Given the description of an element on the screen output the (x, y) to click on. 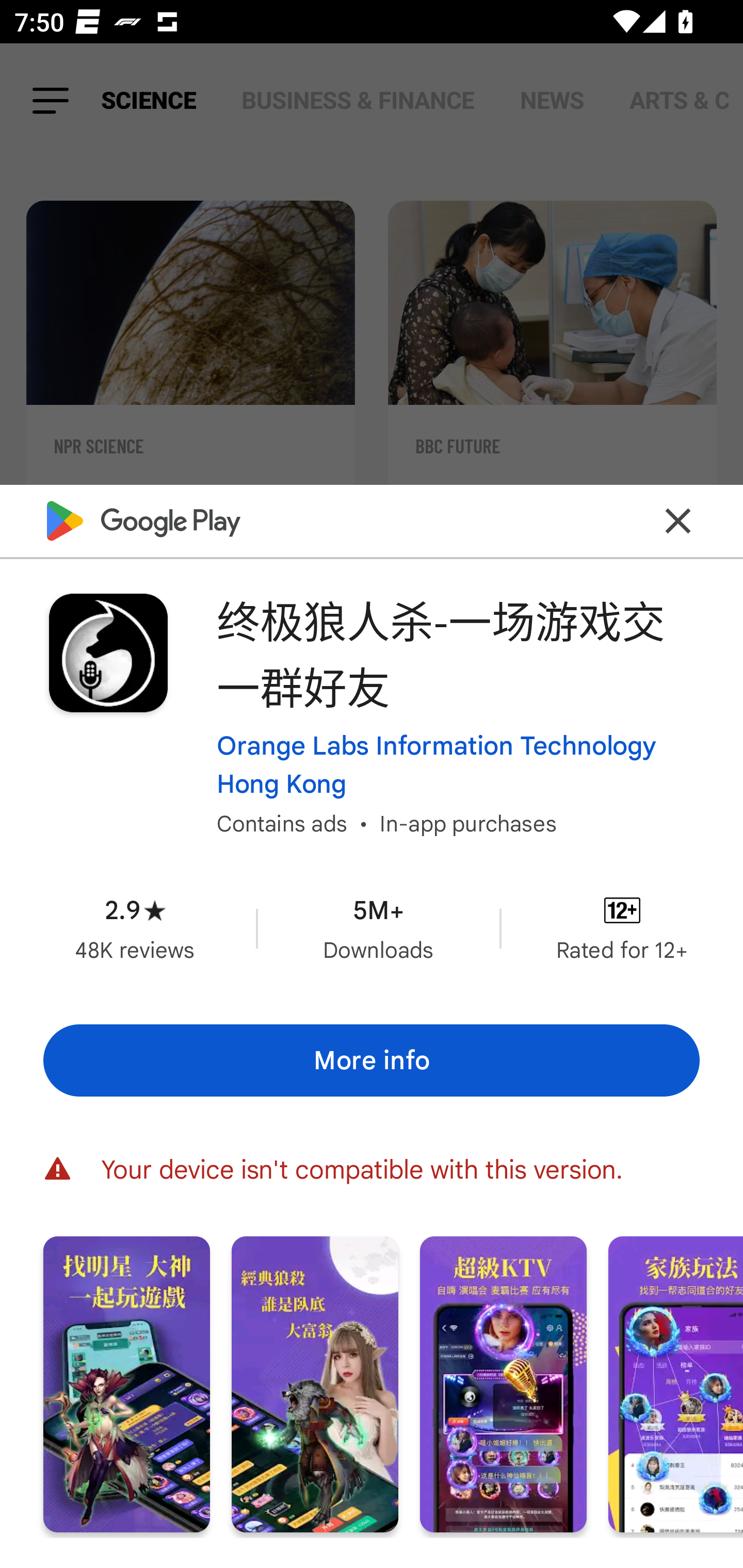
Close (677, 520)
Image of app or game icon for 终极狼人杀-一场游戏交一群好友 (108, 653)
Orange Labs Information Technology Hong Kong (457, 763)
More info (371, 1059)
Screenshot "1" of "8" (126, 1383)
Screenshot "2" of "8" (314, 1383)
Screenshot "3" of "8" (502, 1383)
Screenshot "4" of "8" (675, 1383)
